Given the description of an element on the screen output the (x, y) to click on. 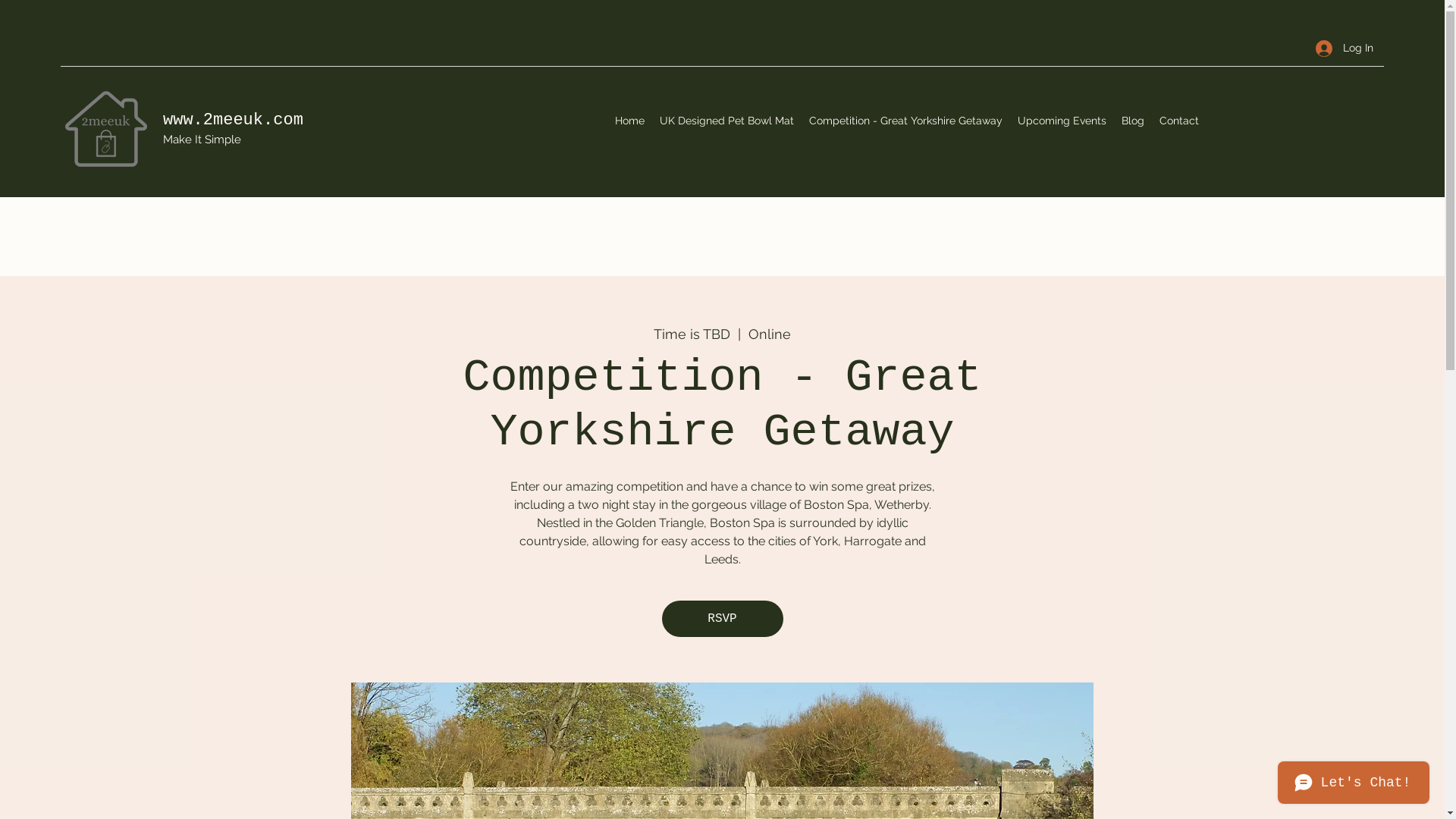
www.2meeuk.com  Element type: text (238, 119)
RSVP Element type: text (721, 618)
UK Designed Pet Bowl Mat Element type: text (726, 120)
Contact Element type: text (1178, 120)
Blog Element type: text (1132, 120)
Home Element type: text (628, 120)
Competition - Great Yorkshire Getaway Element type: text (904, 120)
Log In Element type: text (1344, 48)
Upcoming Events Element type: text (1061, 120)
